Given the description of an element on the screen output the (x, y) to click on. 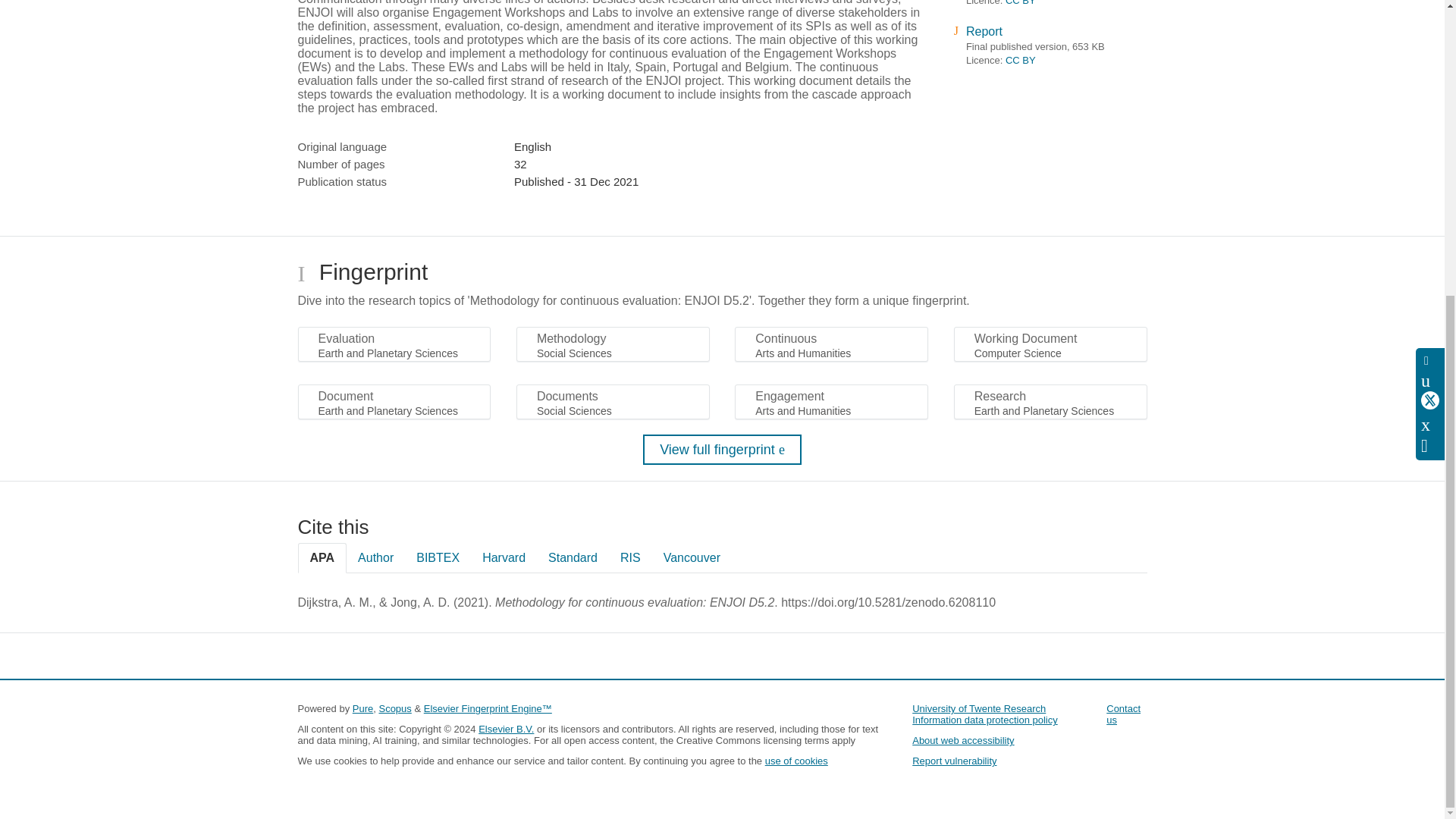
View full fingerprint (722, 449)
Pure (362, 708)
Report (984, 31)
Scopus (394, 708)
CC BY (1020, 60)
CC BY (1020, 2)
